Given the description of an element on the screen output the (x, y) to click on. 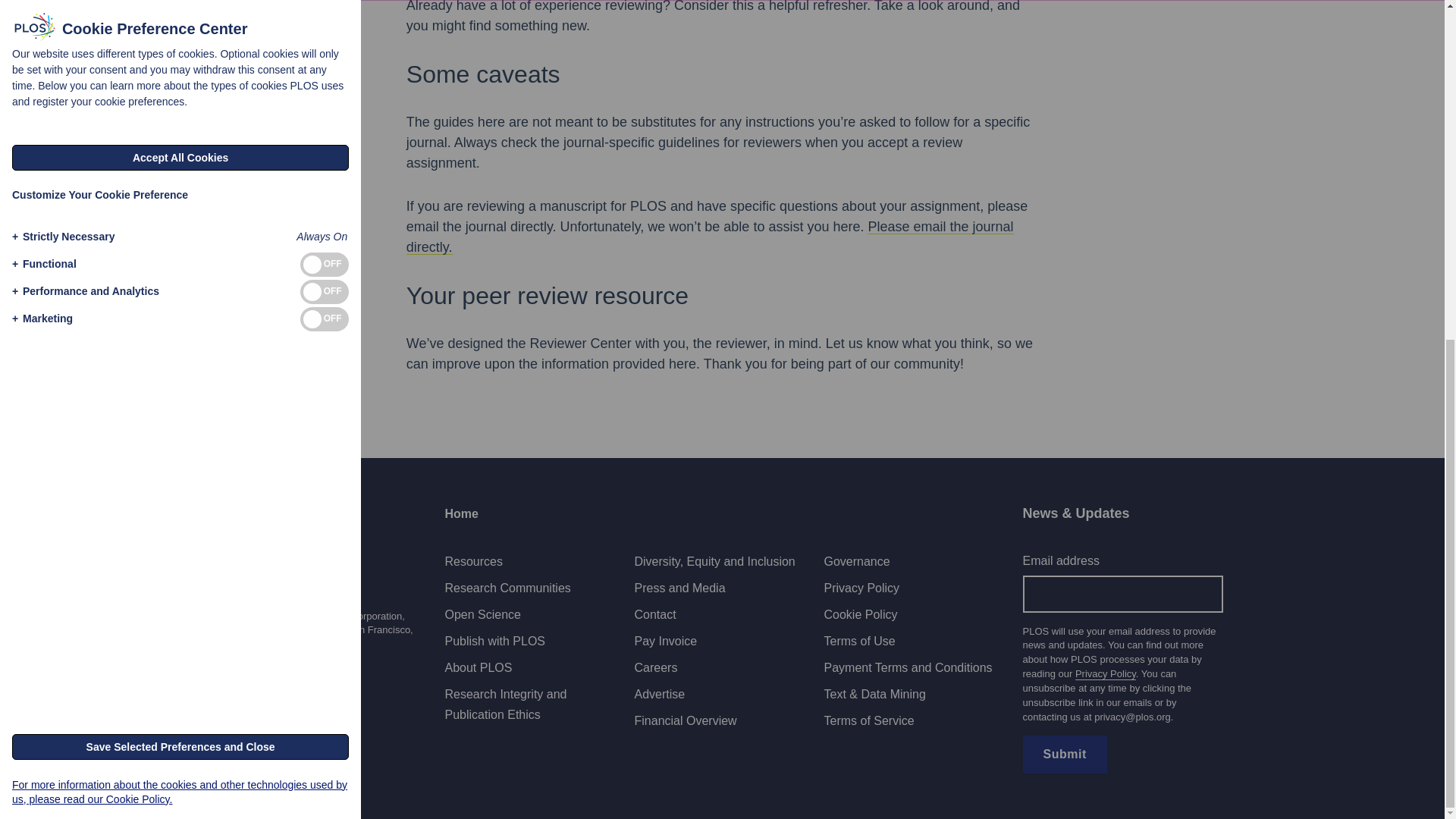
Submit (1064, 754)
